Given the description of an element on the screen output the (x, y) to click on. 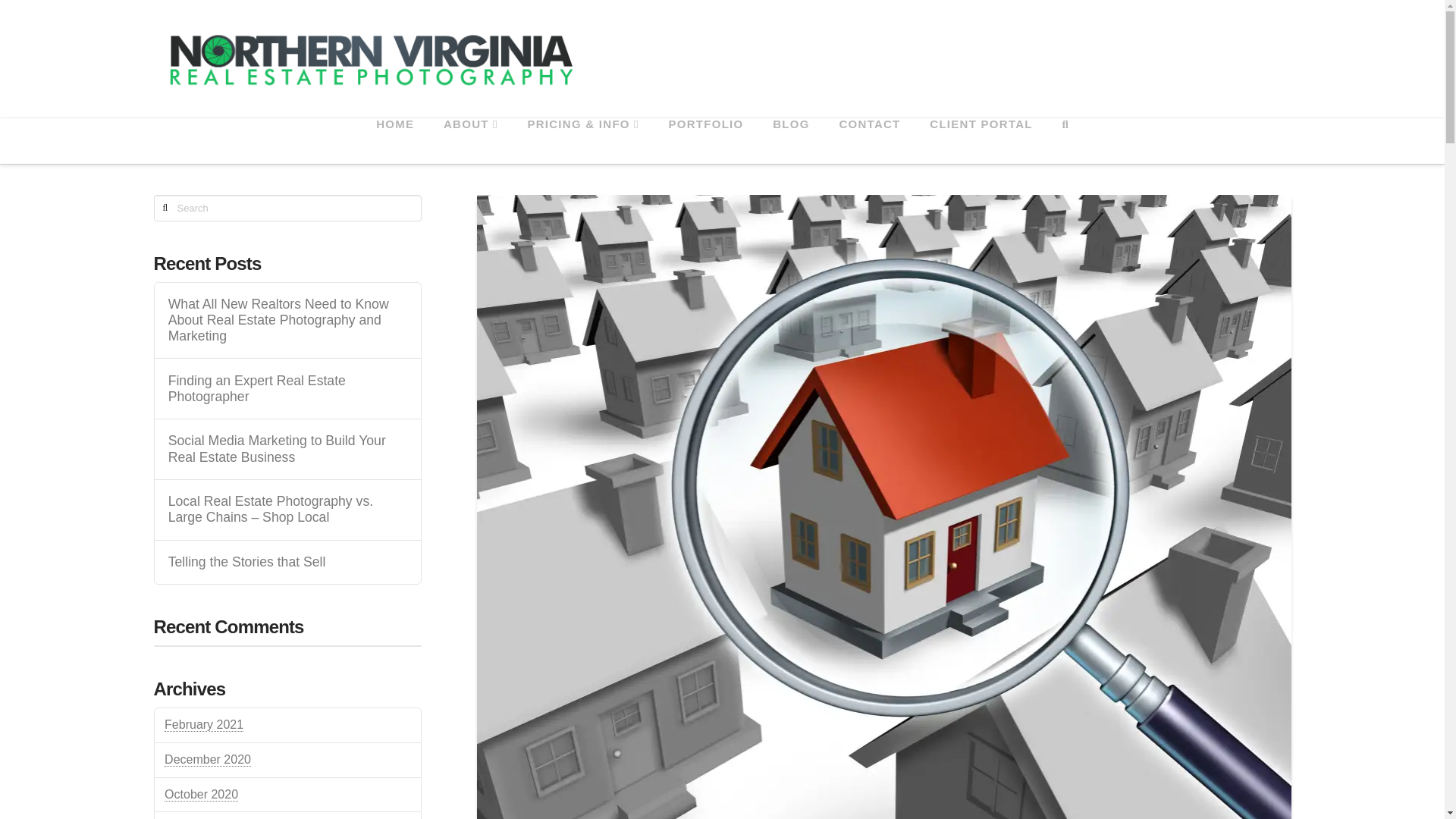
CONTACT (869, 140)
PORTFOLIO (705, 140)
HOME (394, 140)
ABOUT (470, 140)
CLIENT PORTAL (980, 140)
BLOG (790, 140)
